Given the description of an element on the screen output the (x, y) to click on. 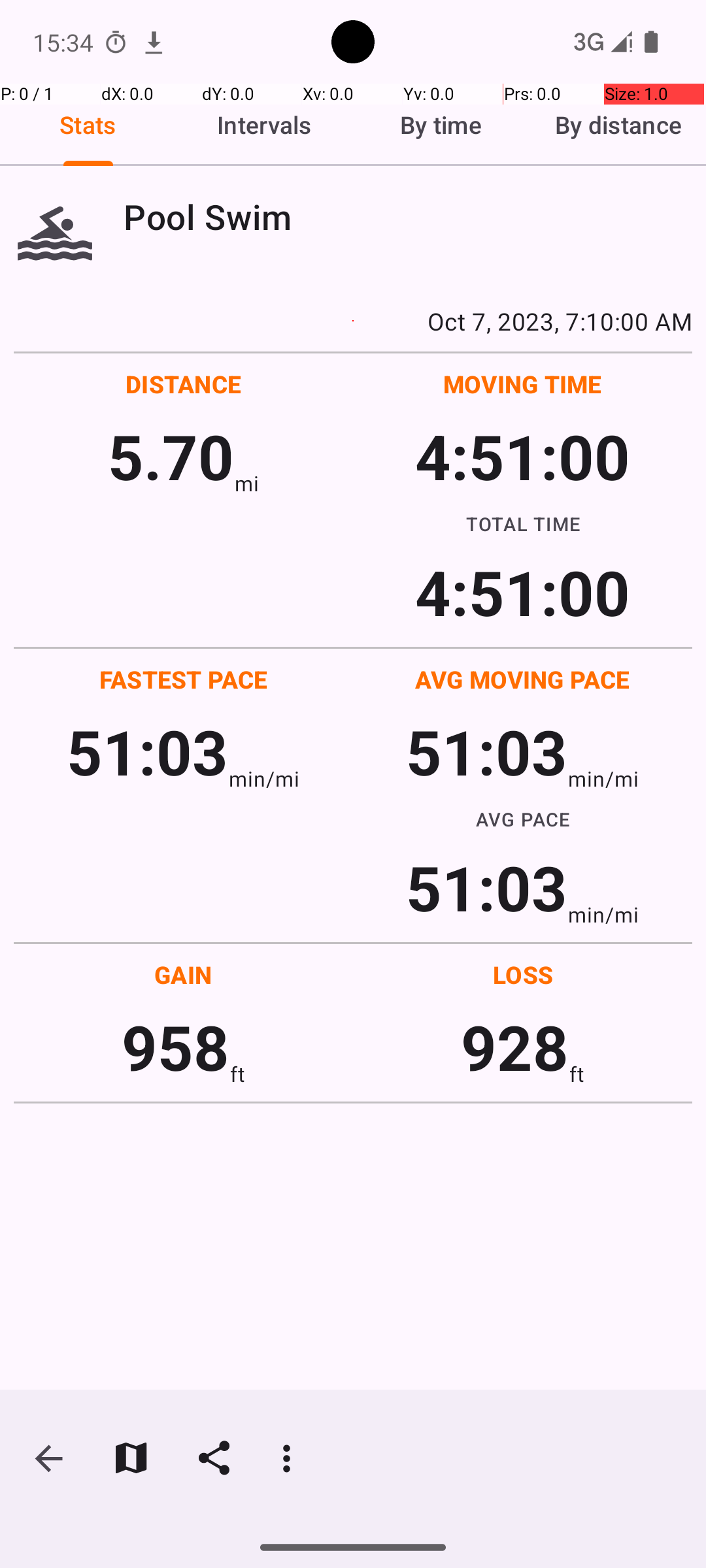
Pool Swim Element type: android.widget.TextView (407, 216)
Oct 7, 2023, 7:10:00 AM Element type: android.widget.TextView (352, 320)
5.70 Element type: android.widget.TextView (170, 455)
4:51:00 Element type: android.widget.TextView (522, 455)
51:03 Element type: android.widget.TextView (147, 750)
958 Element type: android.widget.TextView (175, 1045)
928 Element type: android.widget.TextView (514, 1045)
